Given the description of an element on the screen output the (x, y) to click on. 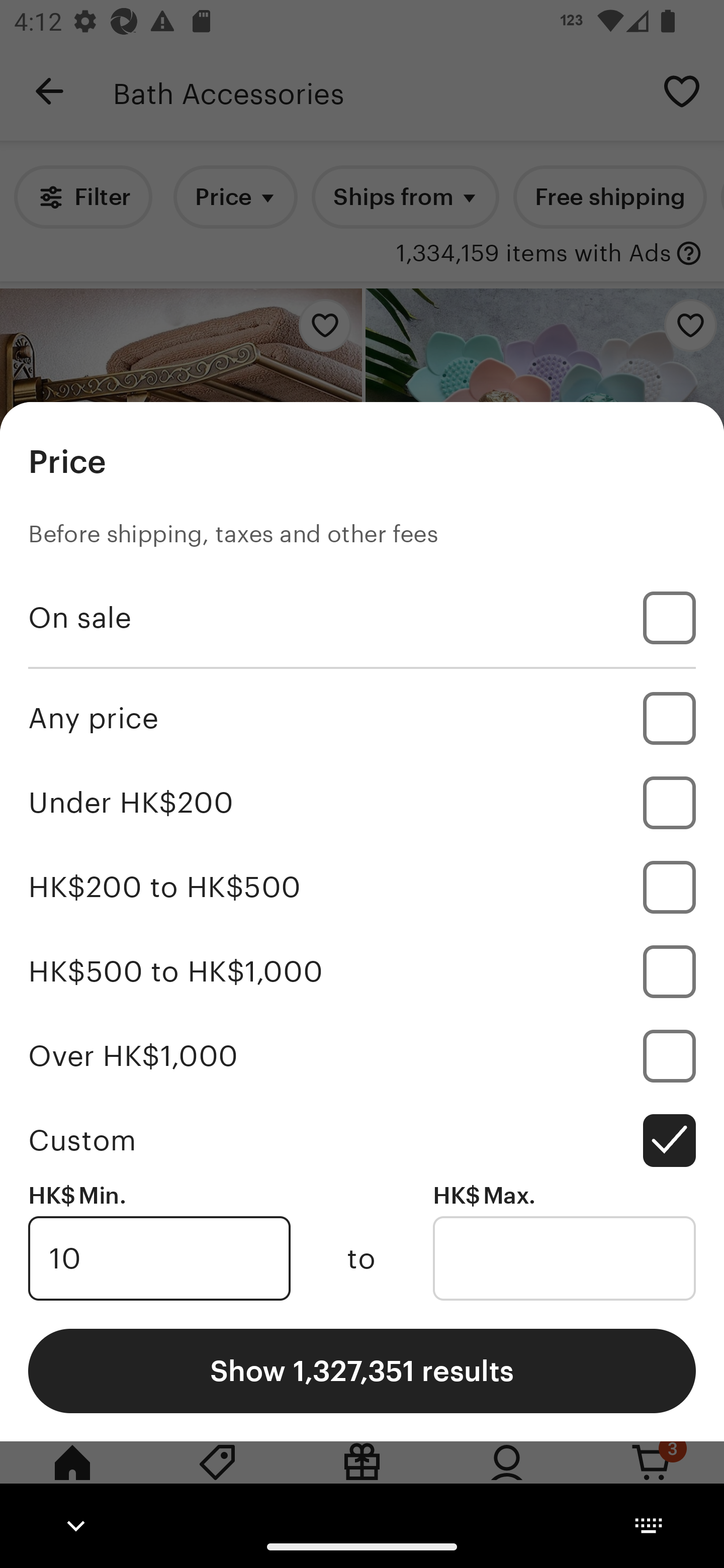
On sale (362, 617)
Any price (362, 717)
Under HK$200 (362, 802)
HK$200 to HK$500 (362, 887)
HK$500 to HK$1,000 (362, 970)
Over HK$1,000 (362, 1054)
Custom (362, 1139)
10 (159, 1257)
Show 1,327,351 results (361, 1370)
